Given the description of an element on the screen output the (x, y) to click on. 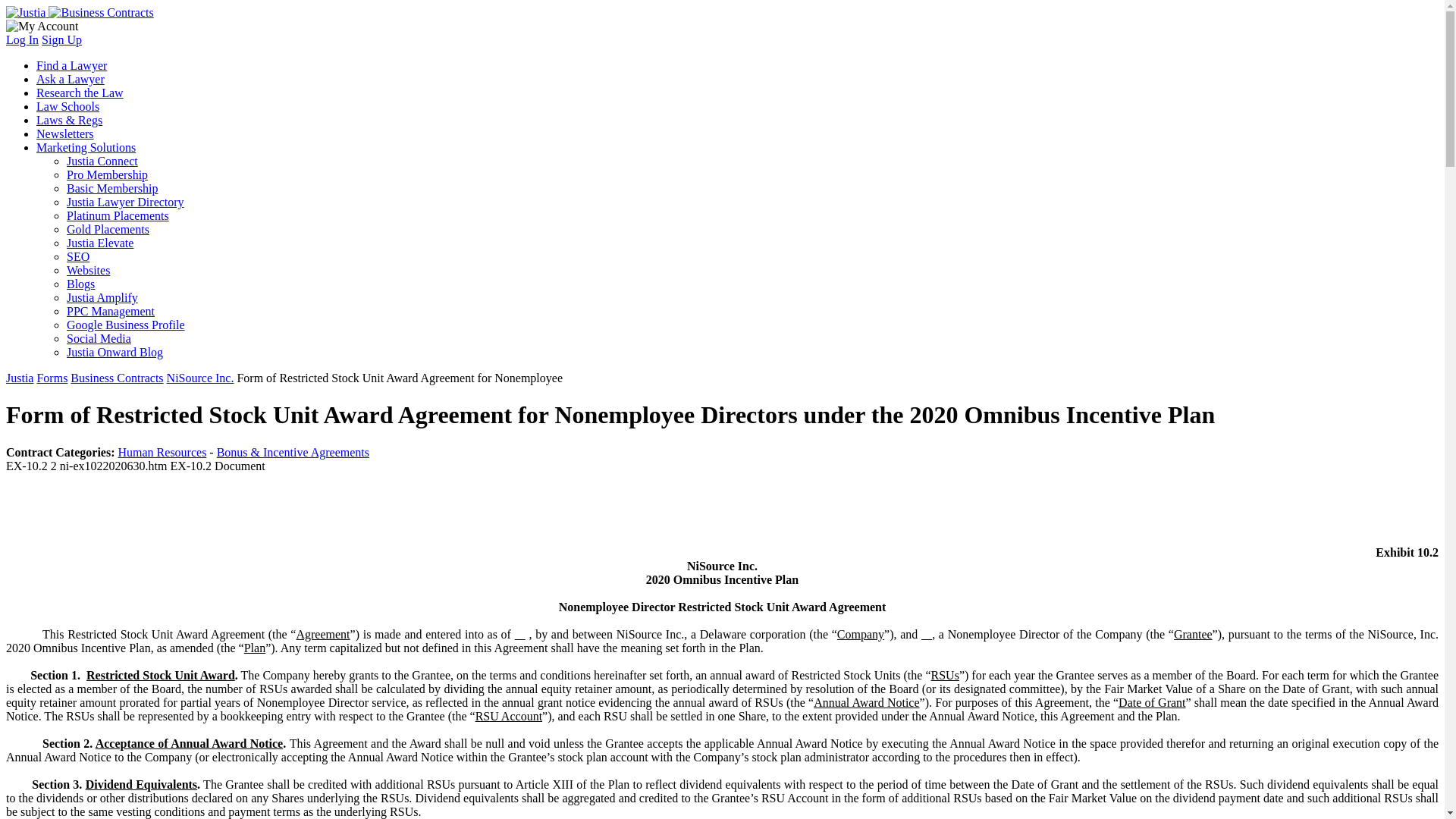
Google Business Profile (125, 324)
Research the Law (79, 92)
Basic Membership (111, 187)
Sign Up (61, 39)
Websites (88, 269)
PPC Management (110, 310)
Ask a Lawyer (70, 78)
Justia Elevate (99, 242)
NiSource Inc. (200, 377)
Business Contracts (116, 377)
Find a Lawyer (71, 65)
Log In (22, 39)
Newsletters (65, 133)
Justia Connect (102, 160)
Justia (79, 11)
